Given the description of an element on the screen output the (x, y) to click on. 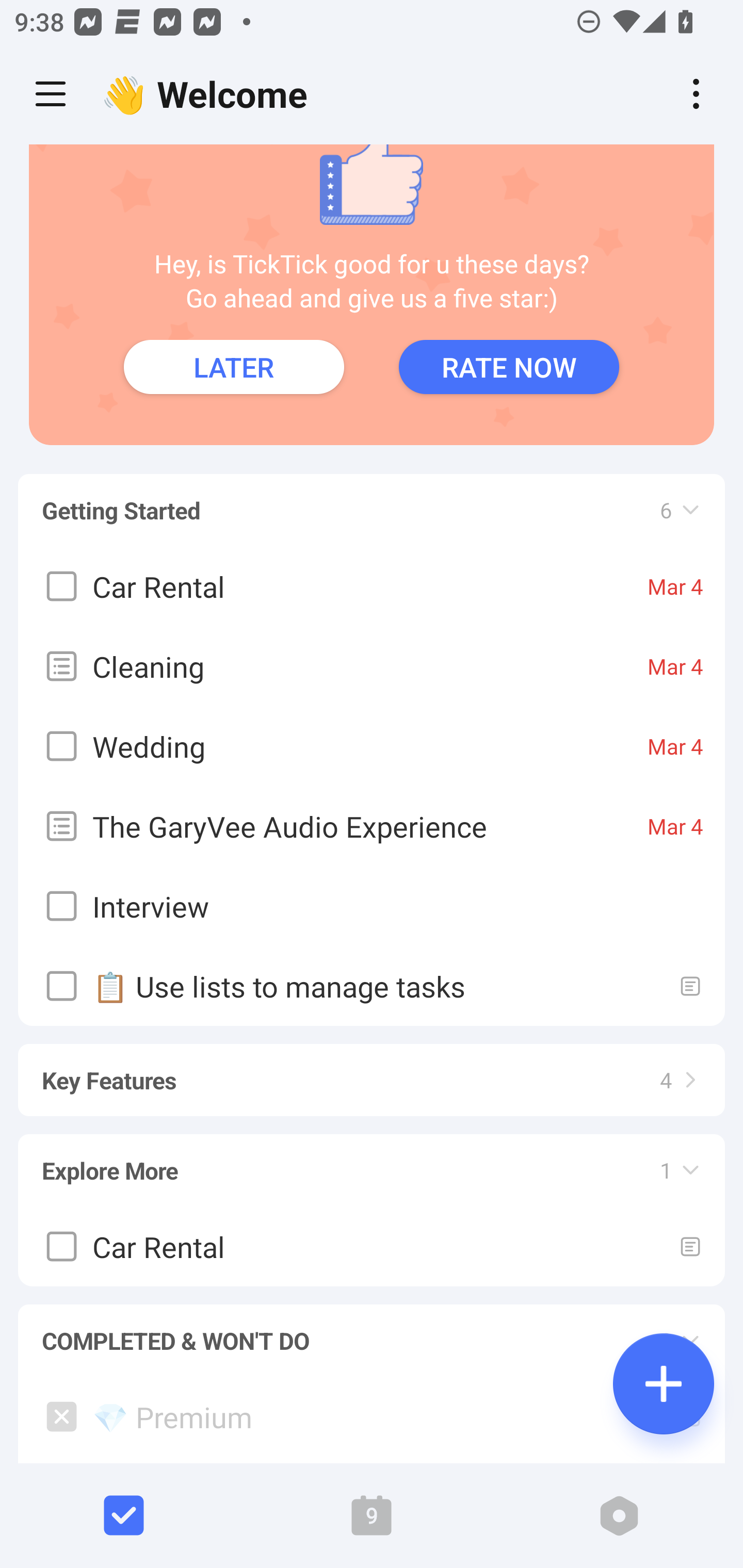
👋 Welcome (209, 93)
LATER (234, 366)
RATE NOW (508, 366)
Getting Started 6 (371, 500)
Car Rental Mar 4 (371, 585)
Mar 4 (675, 585)
Cleaning Mar 4 (371, 665)
Mar 4 (675, 665)
Wedding Mar 4 (371, 745)
Mar 4 (675, 745)
The GaryVee Audio Experience Mar 4 (371, 825)
Mar 4 (675, 825)
Interview (371, 905)
📋 Use lists to manage tasks (371, 985)
Key Features 4 (371, 1070)
Explore More 1 (371, 1160)
Car Rental (371, 1245)
COMPLETED & WON'T DO 2 (371, 1330)
💎 Premium (371, 1416)
